Given the description of an element on the screen output the (x, y) to click on. 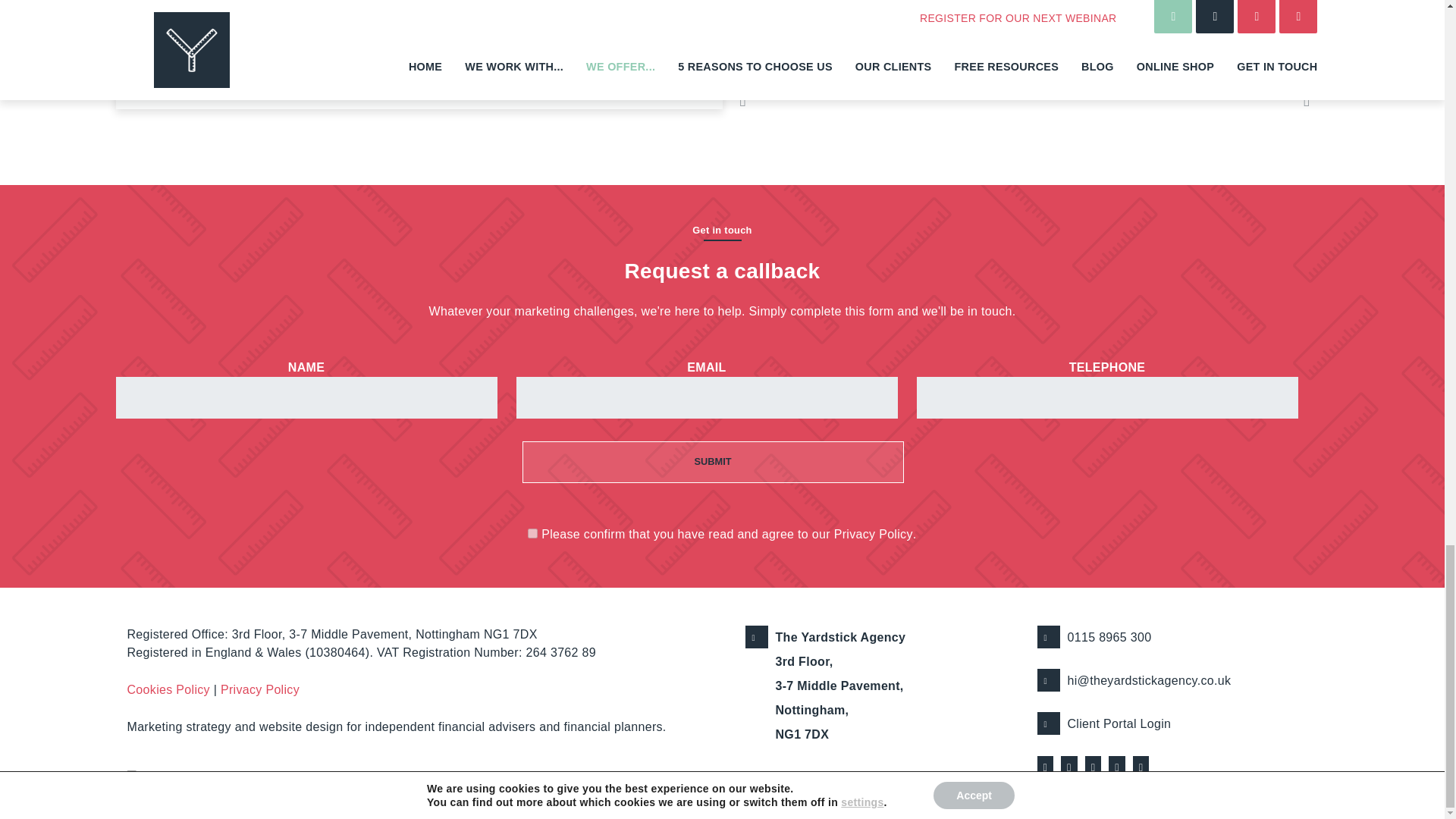
Submit (711, 462)
1 (532, 533)
